Given the description of an element on the screen output the (x, y) to click on. 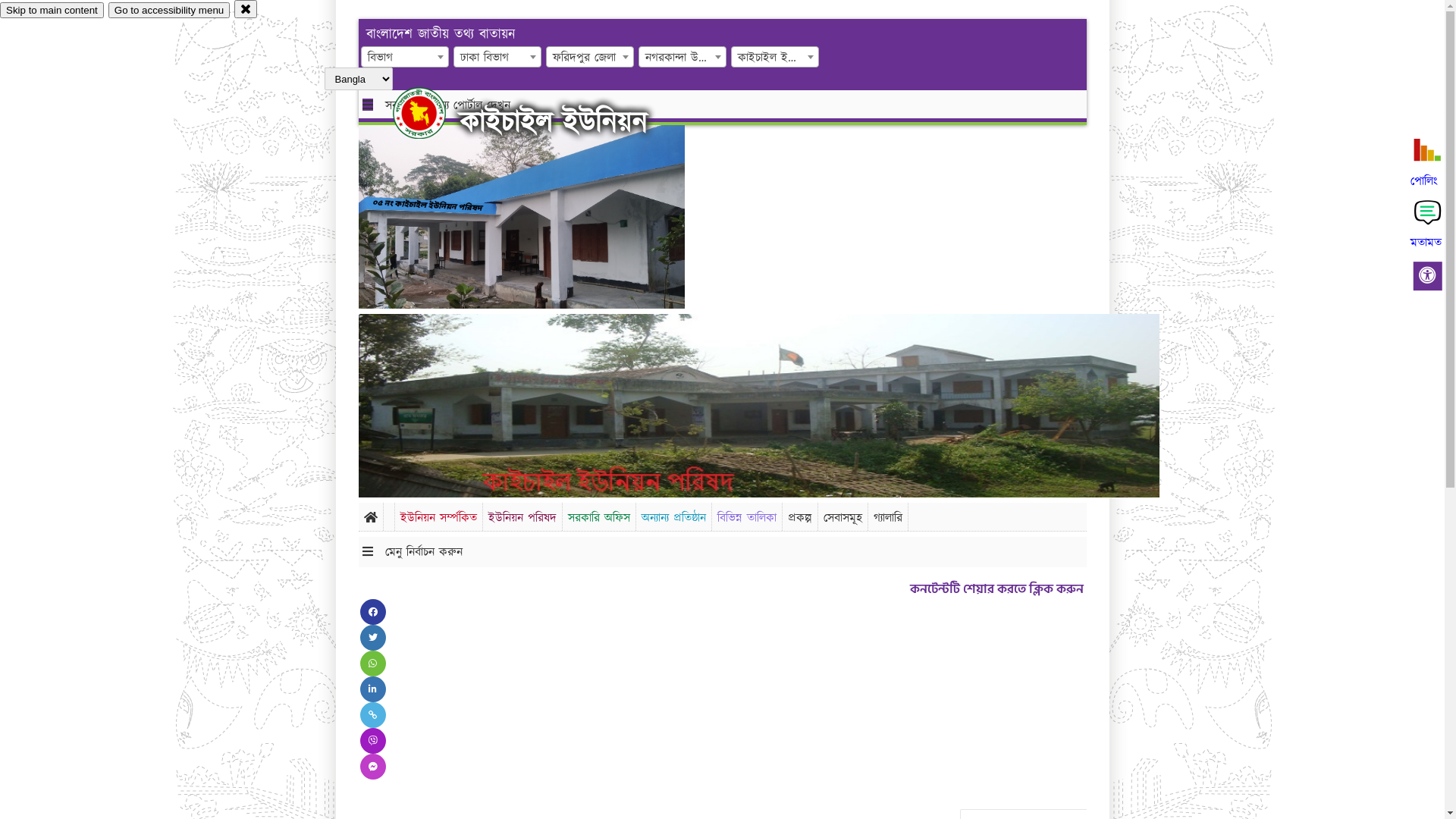
Skip to main content Element type: text (51, 10)
close Element type: hover (245, 9)

                
             Element type: hover (431, 112)
Go to accessibility menu Element type: text (168, 10)
